Given the description of an element on the screen output the (x, y) to click on. 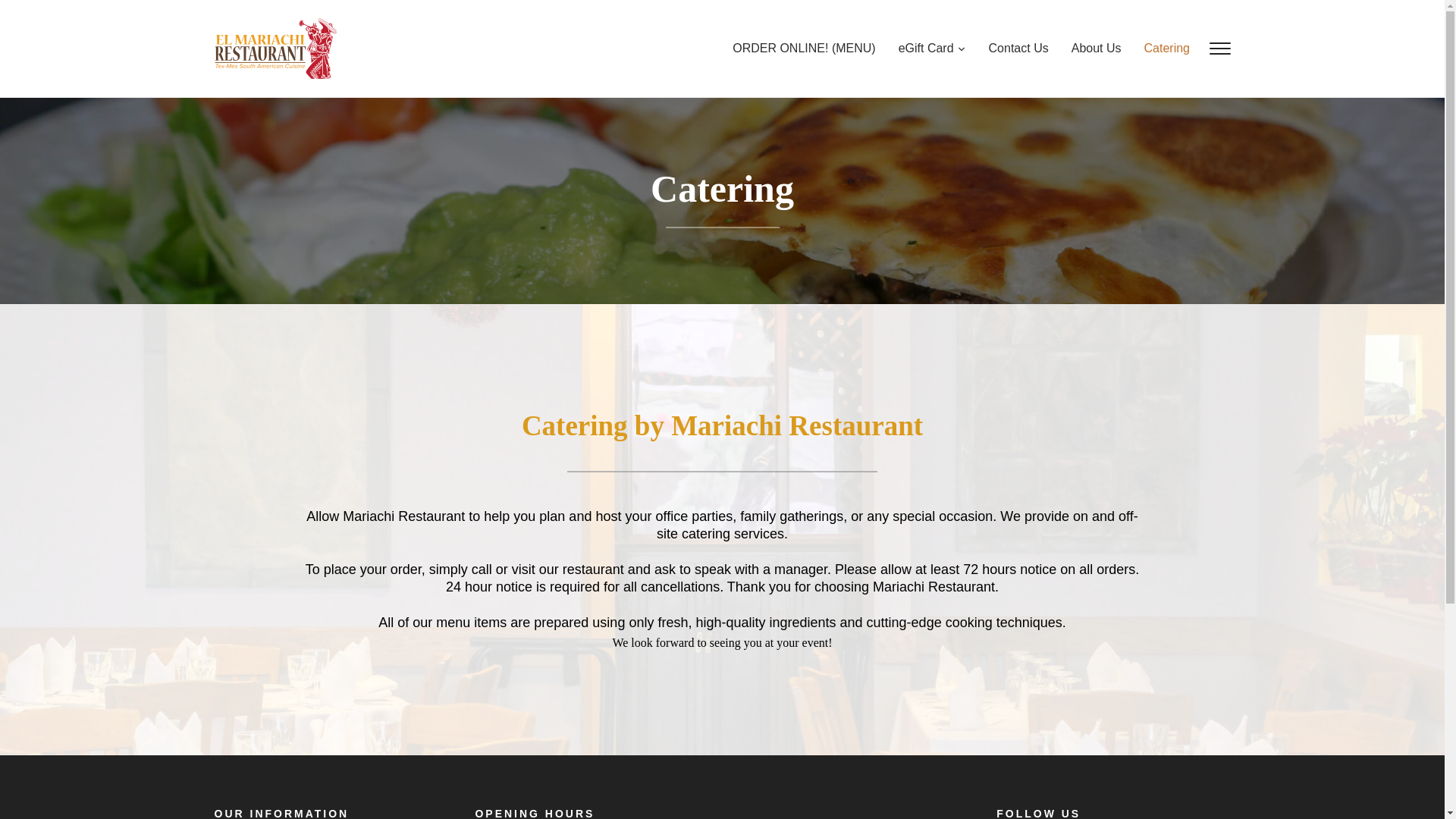
Contact Us (1007, 52)
Catering (1155, 52)
About Us (1084, 52)
Tex-Mex, Spanish, and South American Cuisine since 1991 (275, 47)
eGift Card (921, 52)
